Given the description of an element on the screen output the (x, y) to click on. 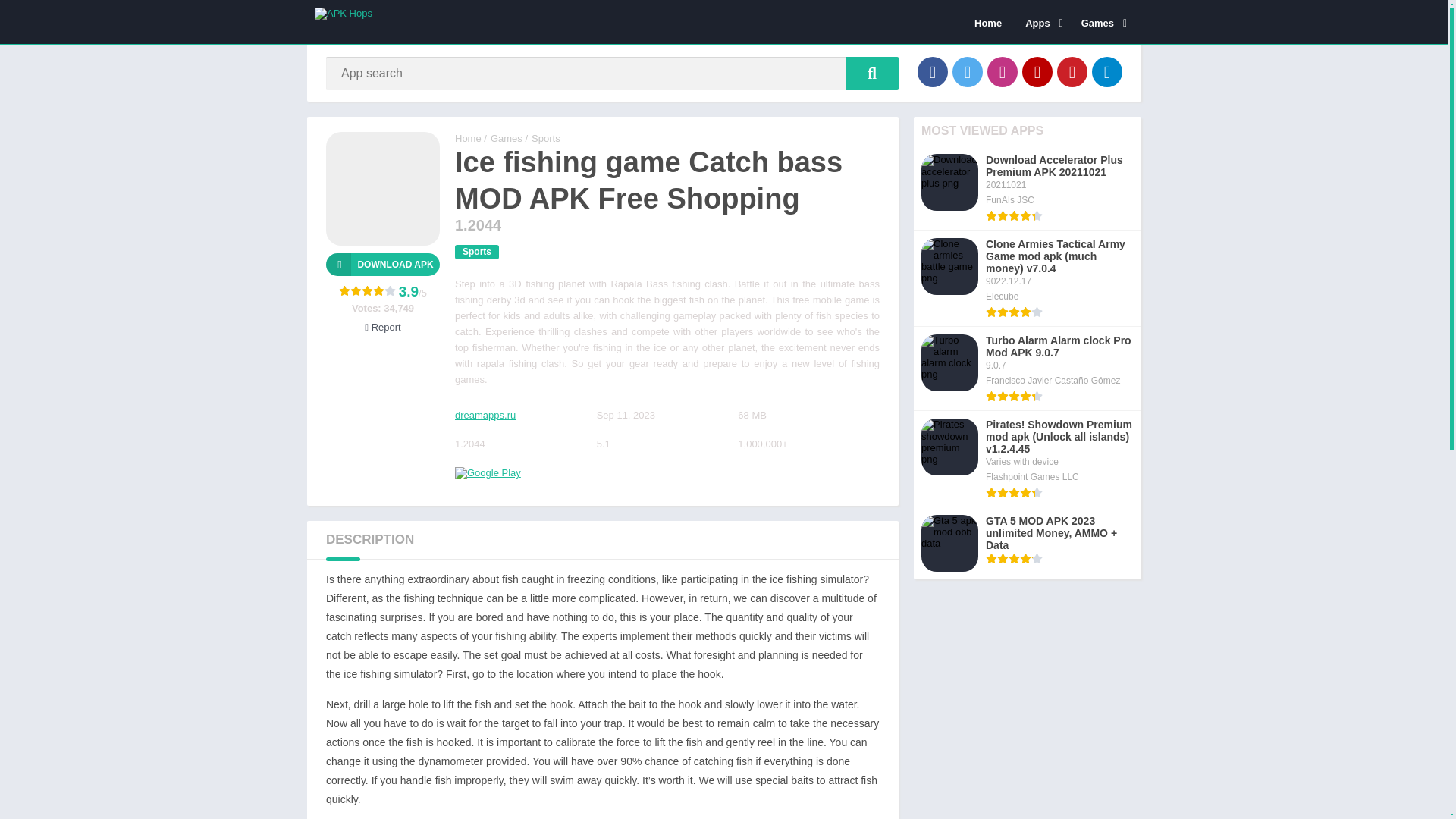
Instagram (1002, 71)
Facebook (932, 71)
Twitter (967, 71)
Pinterest (1072, 71)
YouTube (1037, 71)
App search (871, 73)
Download APK (382, 264)
APK Hops (467, 138)
Telegram (1107, 71)
